Given the description of an element on the screen output the (x, y) to click on. 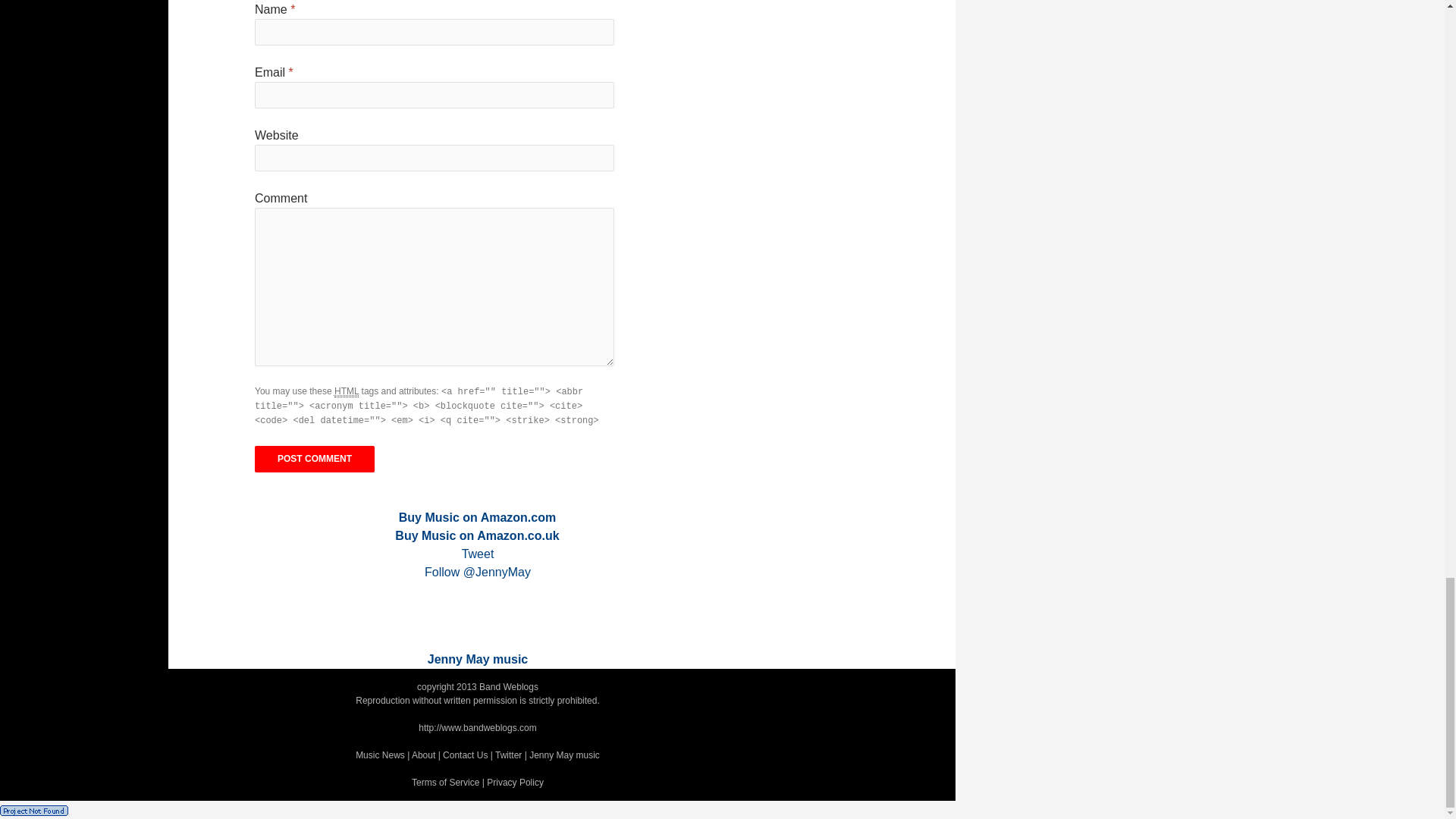
HyperText Markup Language (346, 391)
Post Comment (314, 458)
Post Comment (314, 458)
